Given the description of an element on the screen output the (x, y) to click on. 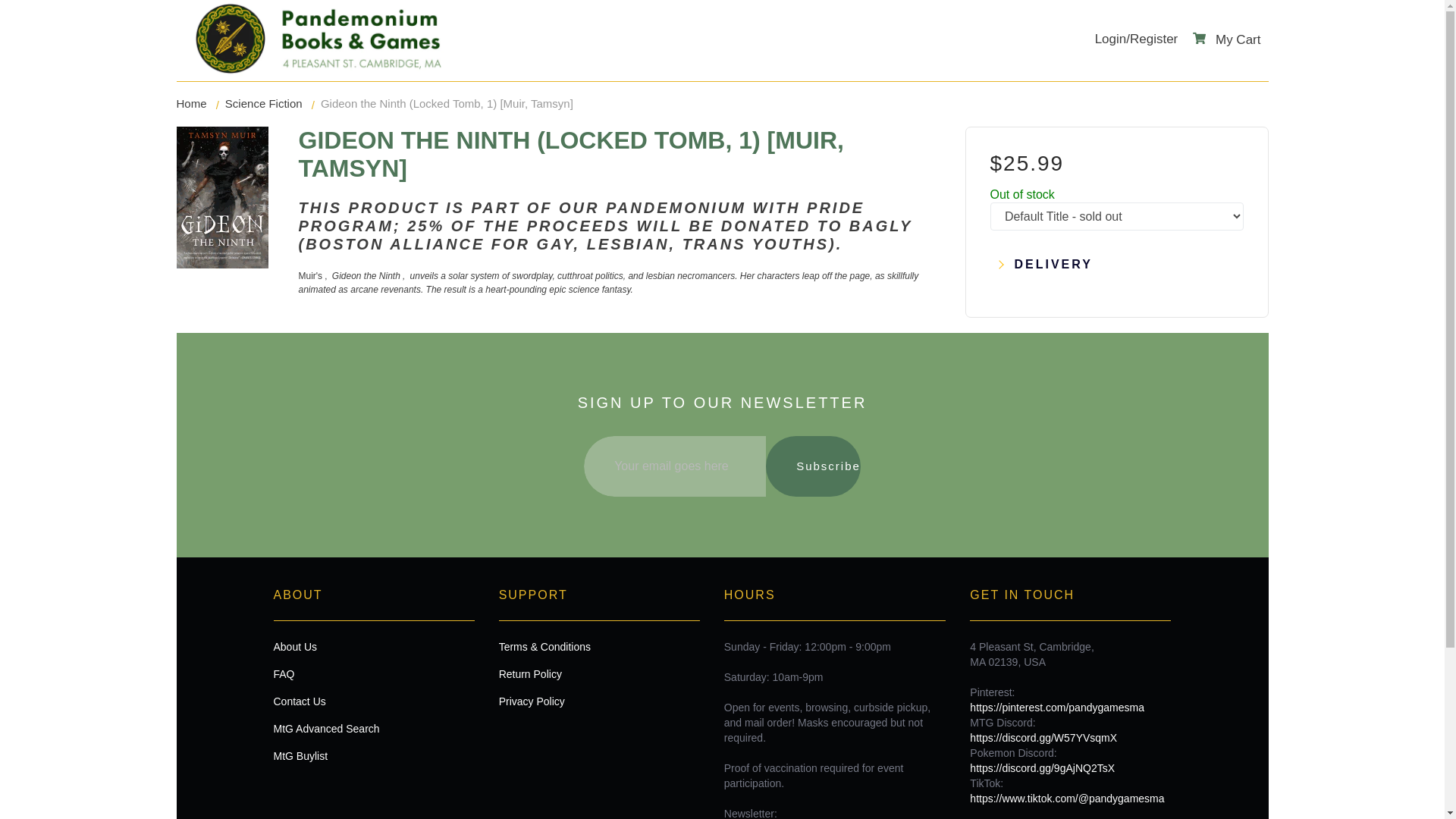
Privacy Policy (599, 701)
About Us (373, 646)
Home (191, 103)
Return Policy (599, 673)
MtG Buylist (373, 755)
Submit (722, 268)
Subscribe (812, 465)
Subscribe (812, 465)
Contact Us (373, 701)
FAQ (373, 673)
My Cart (1226, 39)
Science Fiction (263, 103)
MtG Advanced Search (373, 728)
